Given the description of an element on the screen output the (x, y) to click on. 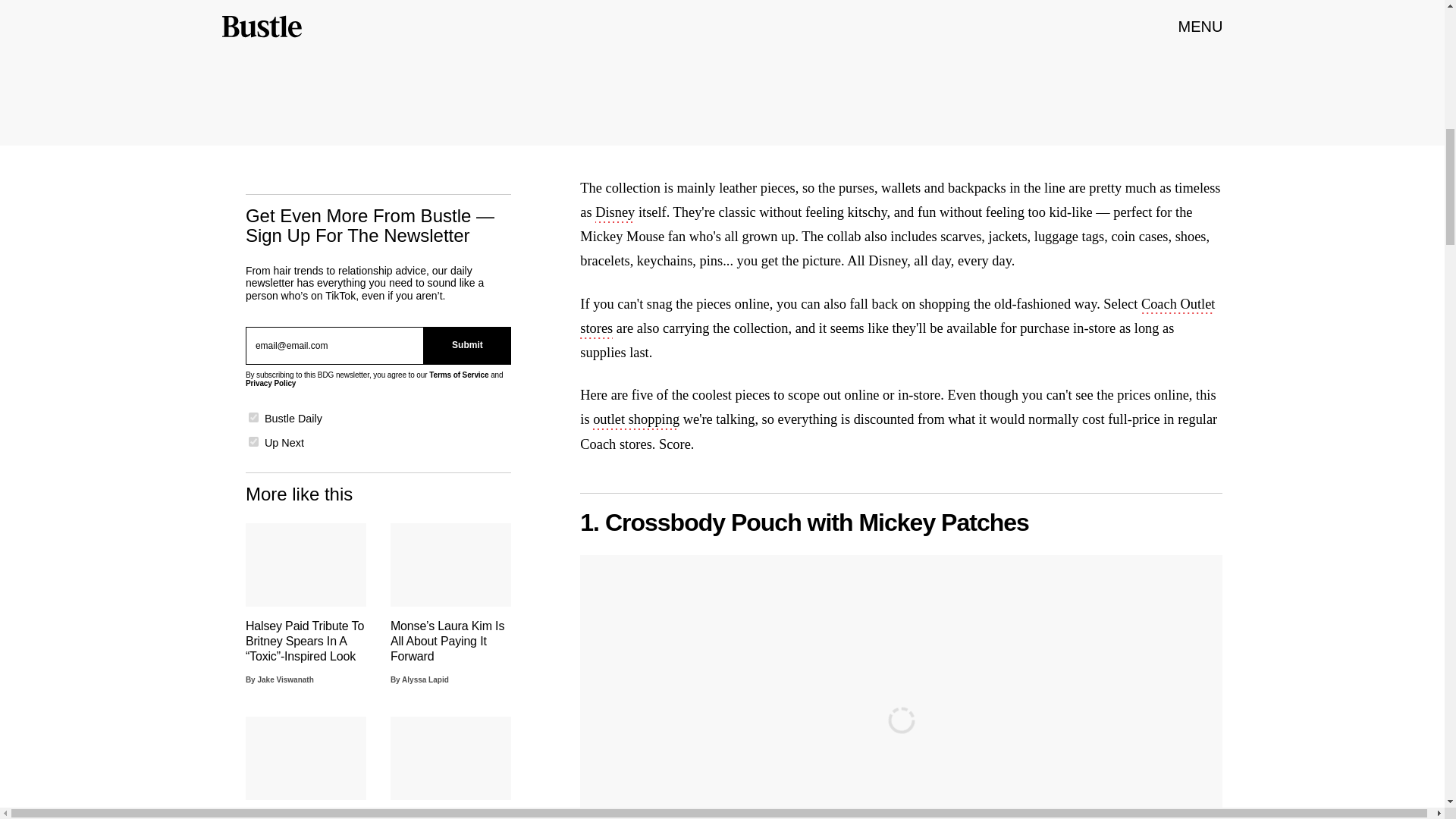
Submit (467, 345)
Coach Outlet stores (896, 317)
Disney (614, 213)
Terms of Service (458, 375)
outlet shopping (635, 420)
Privacy Policy (270, 383)
